Given the description of an element on the screen output the (x, y) to click on. 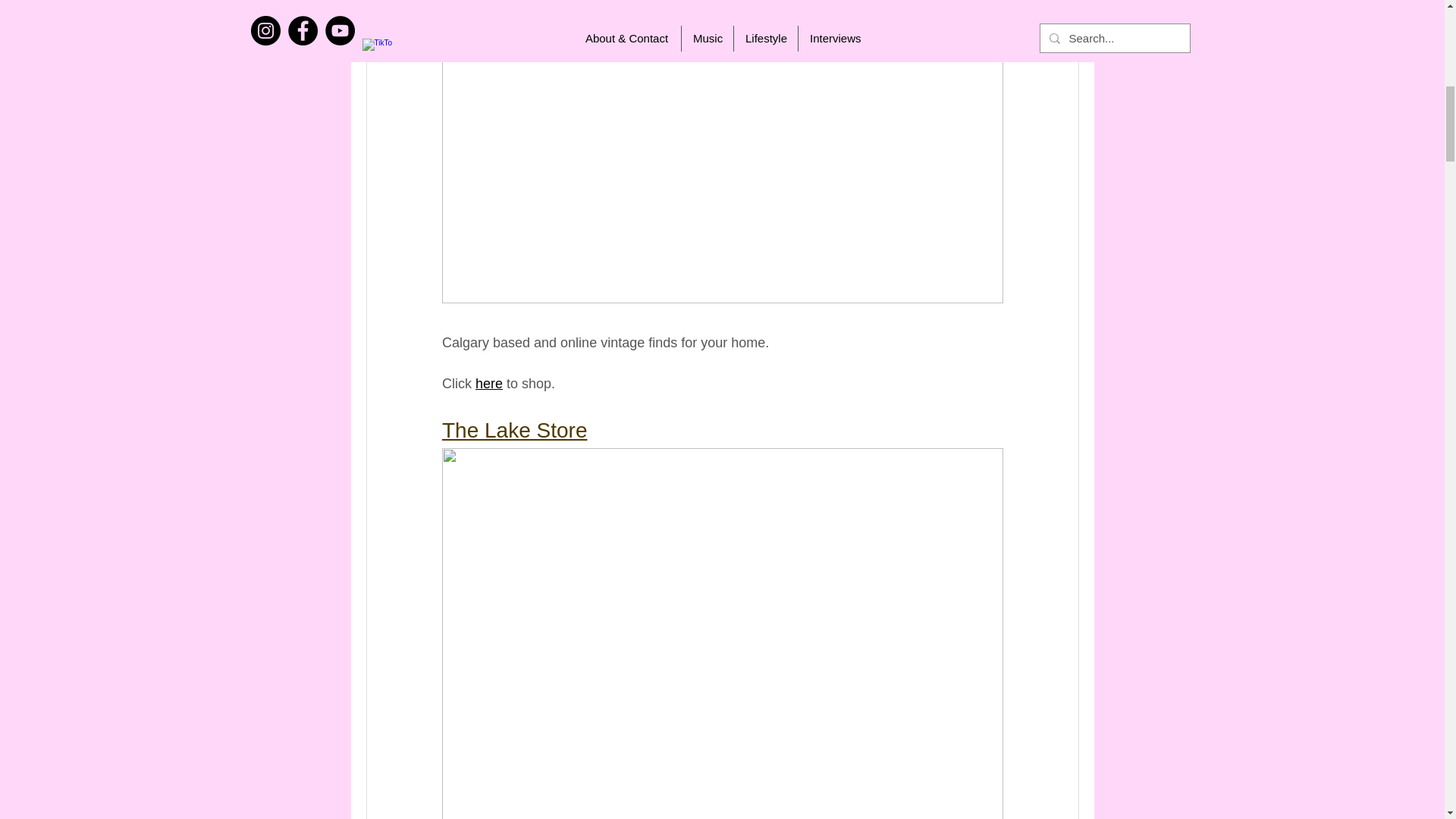
here (488, 383)
